Given the description of an element on the screen output the (x, y) to click on. 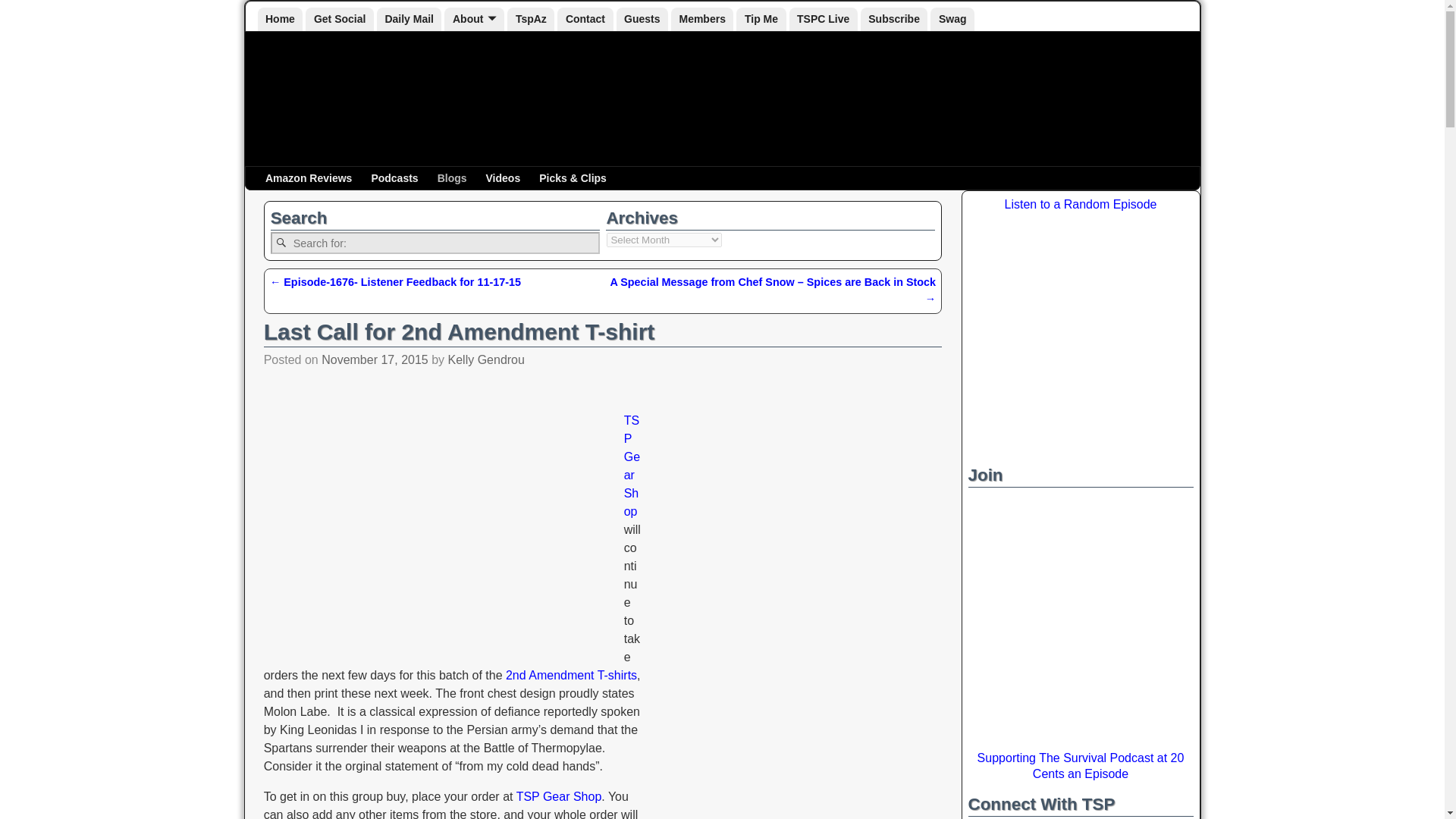
TspAz (530, 19)
TSP Swag Store (952, 19)
About (473, 19)
Daily Mail (409, 19)
Get Social (338, 19)
